Given the description of an element on the screen output the (x, y) to click on. 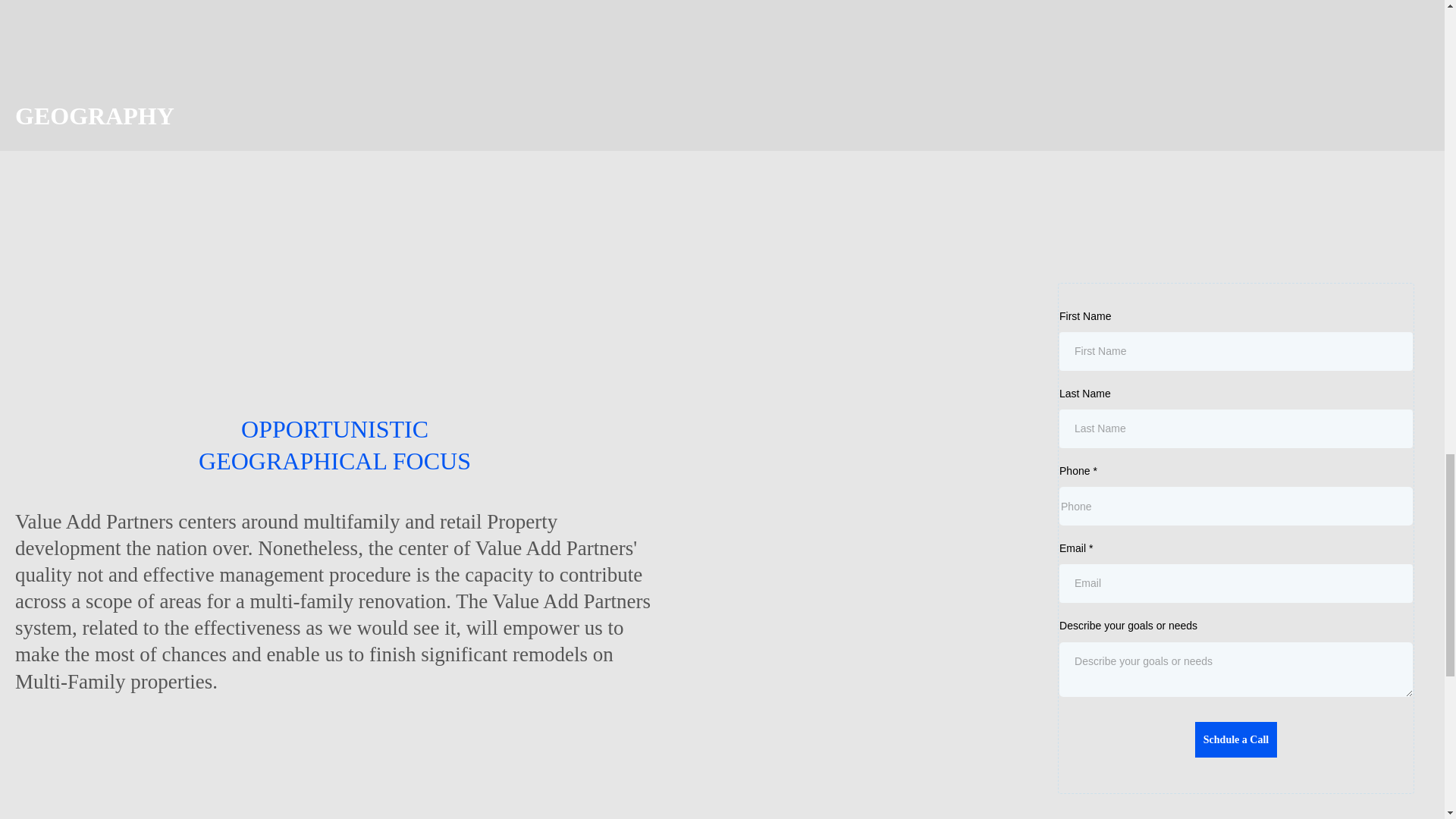
Schdule a Call (1235, 739)
